Given the description of an element on the screen output the (x, y) to click on. 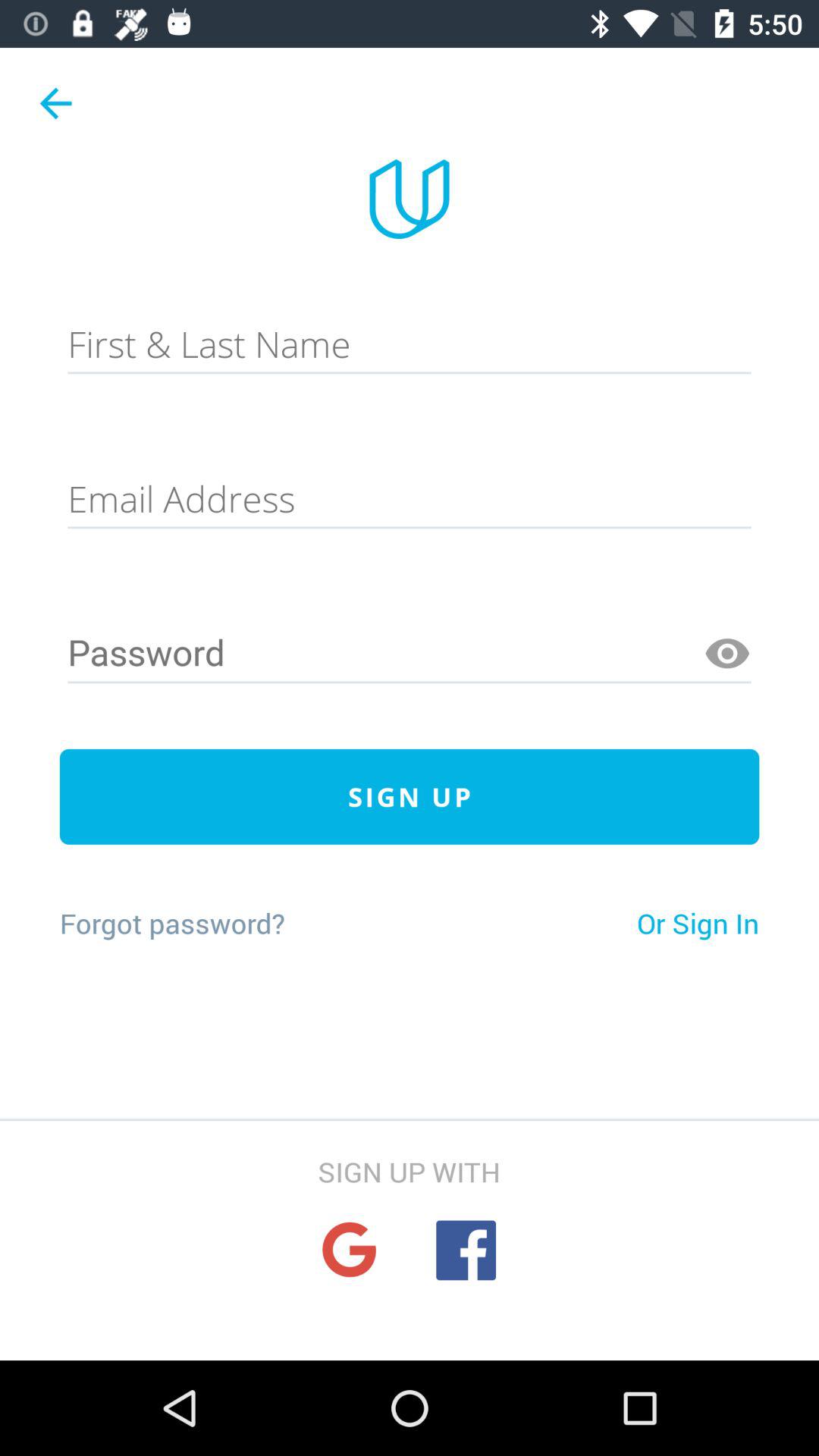
input here (409, 499)
